Given the description of an element on the screen output the (x, y) to click on. 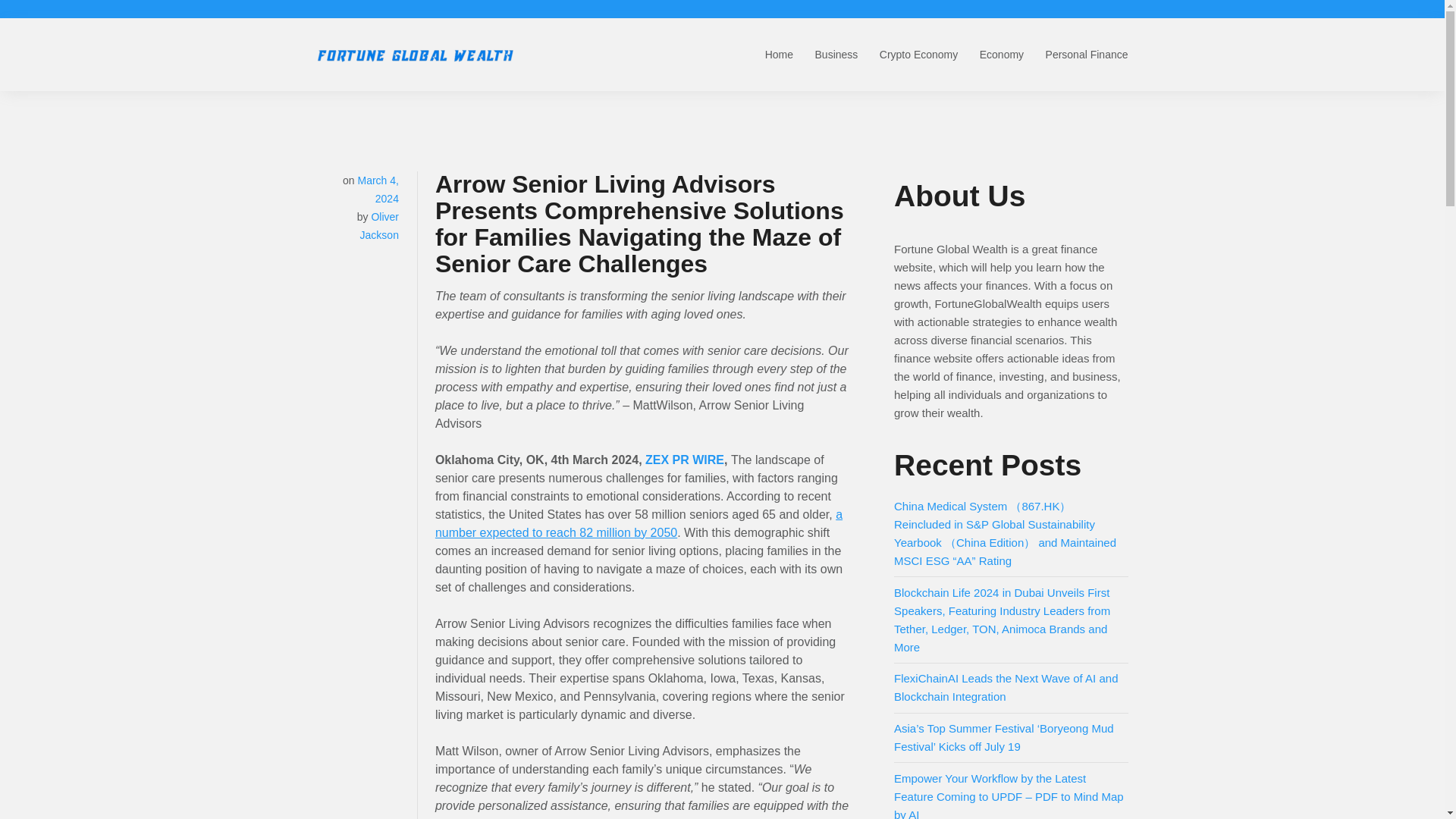
Economy (1001, 54)
Business (837, 54)
March 4, 2024 (376, 189)
Crypto Economy (918, 54)
a number expected to reach 82 million by 2050 (639, 522)
ZEX PR WIRE (684, 459)
Personal Finance (1086, 54)
Oliver Jackson (378, 225)
